Given the description of an element on the screen output the (x, y) to click on. 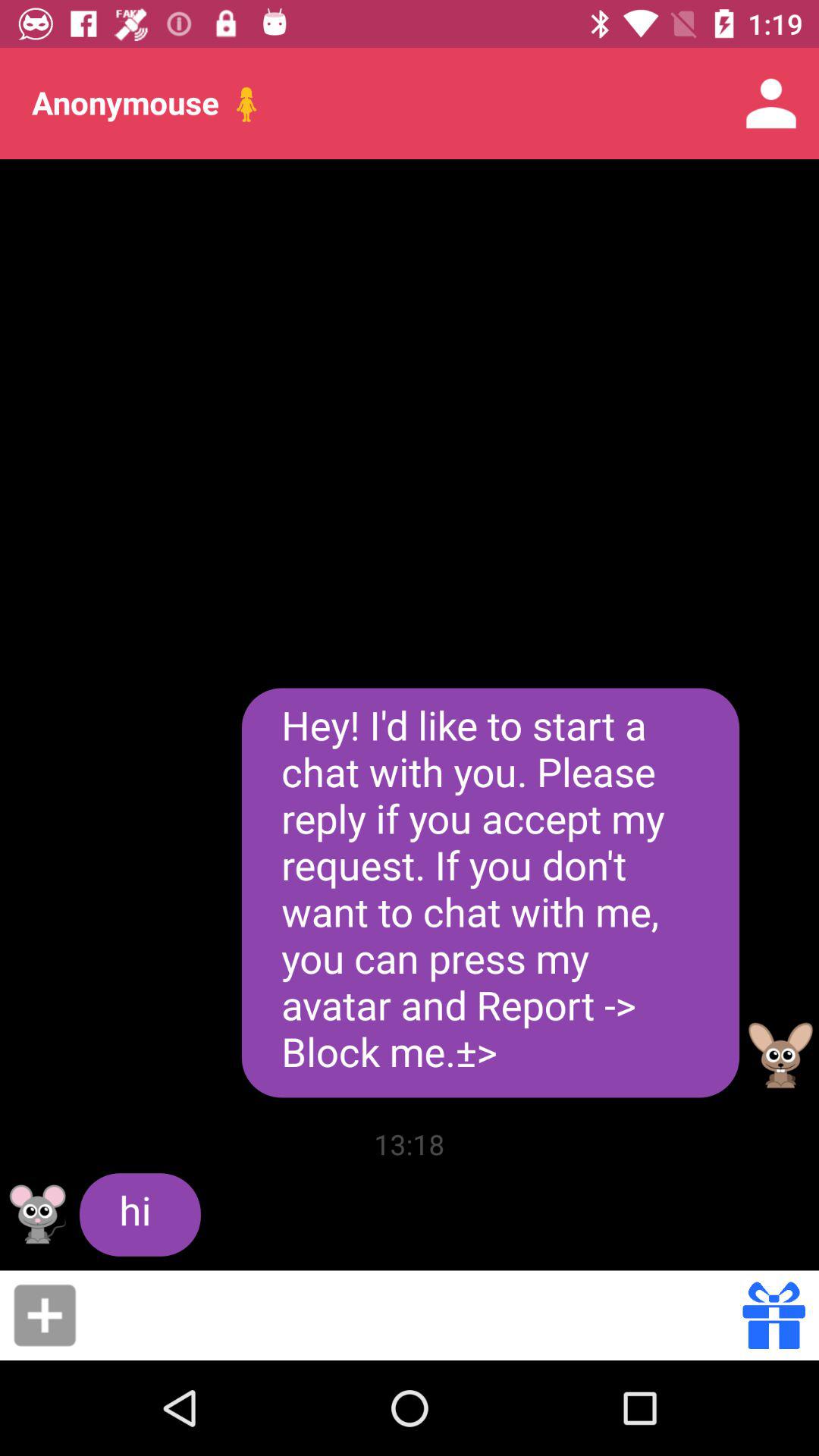
scroll to the hi  icon (139, 1214)
